Given the description of an element on the screen output the (x, y) to click on. 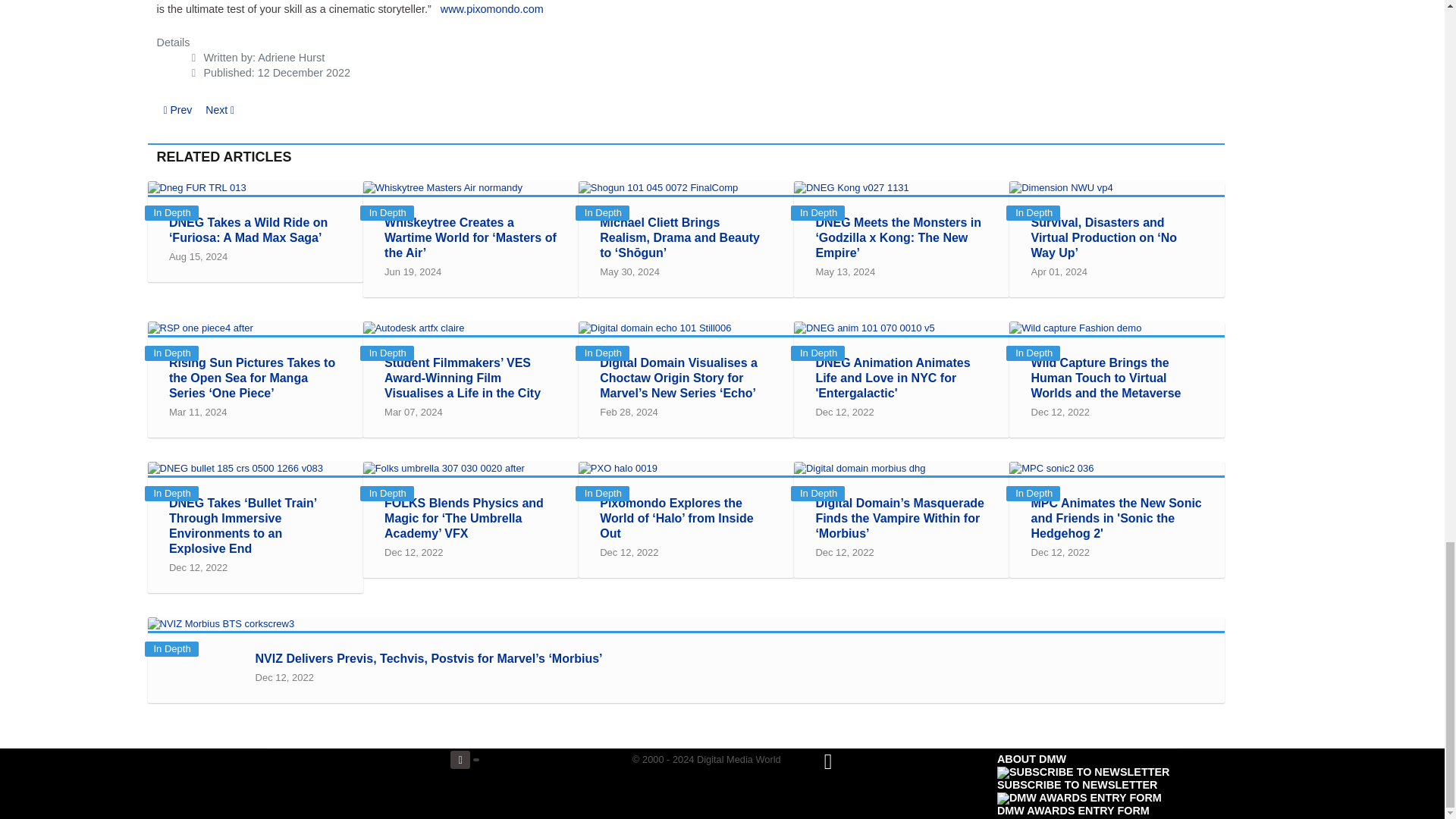
www.pixomondo.com (492, 9)
